Given the description of an element on the screen output the (x, y) to click on. 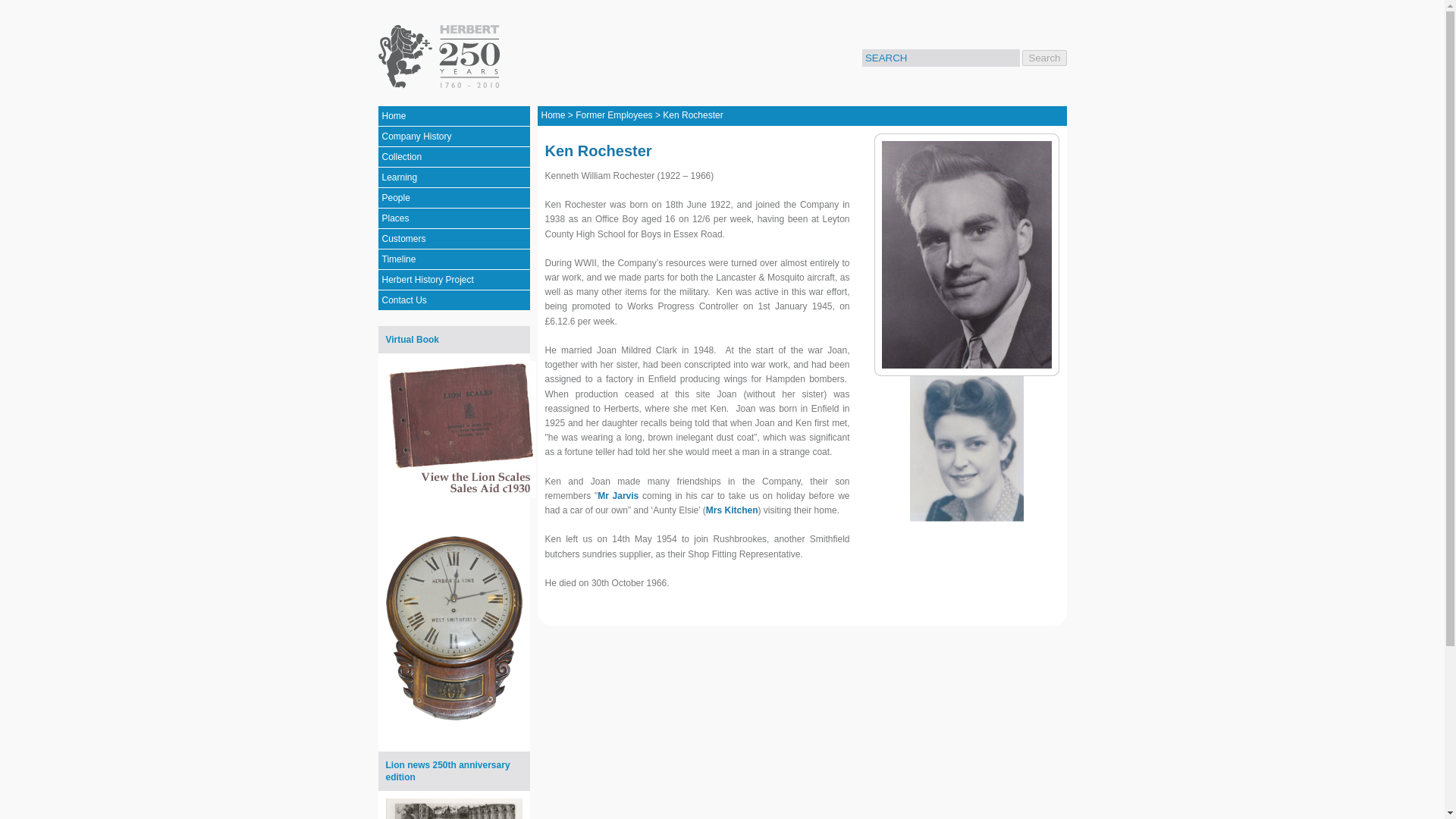
Mr Jarvis (617, 495)
Herbert History (440, 56)
Home (553, 114)
Mrs Kitchen (732, 510)
Places (453, 218)
Contact Us (453, 300)
SEARCH (940, 57)
People (453, 198)
Company History (453, 136)
Home (453, 116)
Herbert History Project (453, 280)
Search (1043, 57)
Collection (453, 157)
Learning (453, 177)
Former Employees (613, 114)
